Given the description of an element on the screen output the (x, y) to click on. 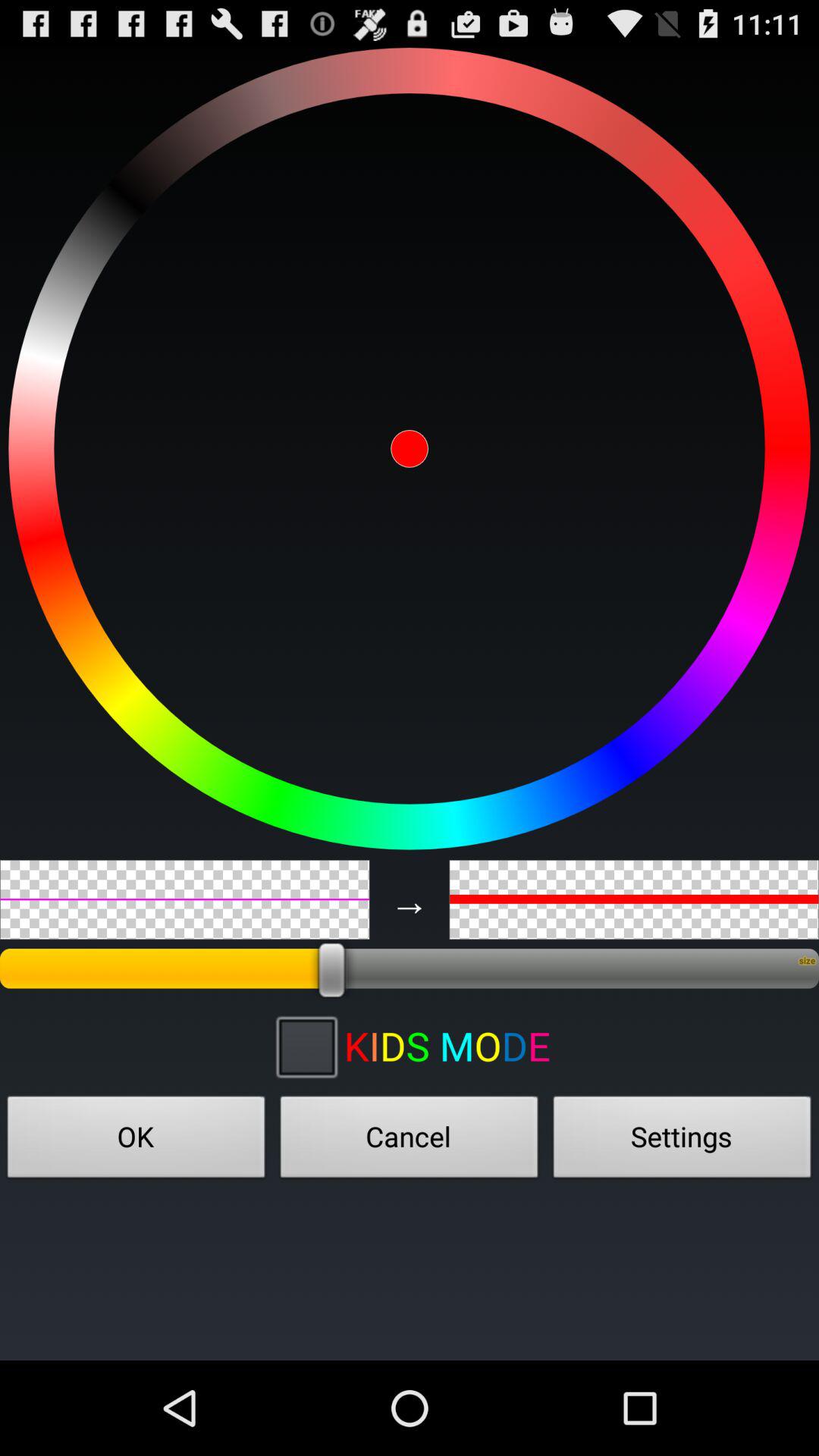
press item next to the cancel item (682, 1141)
